Given the description of an element on the screen output the (x, y) to click on. 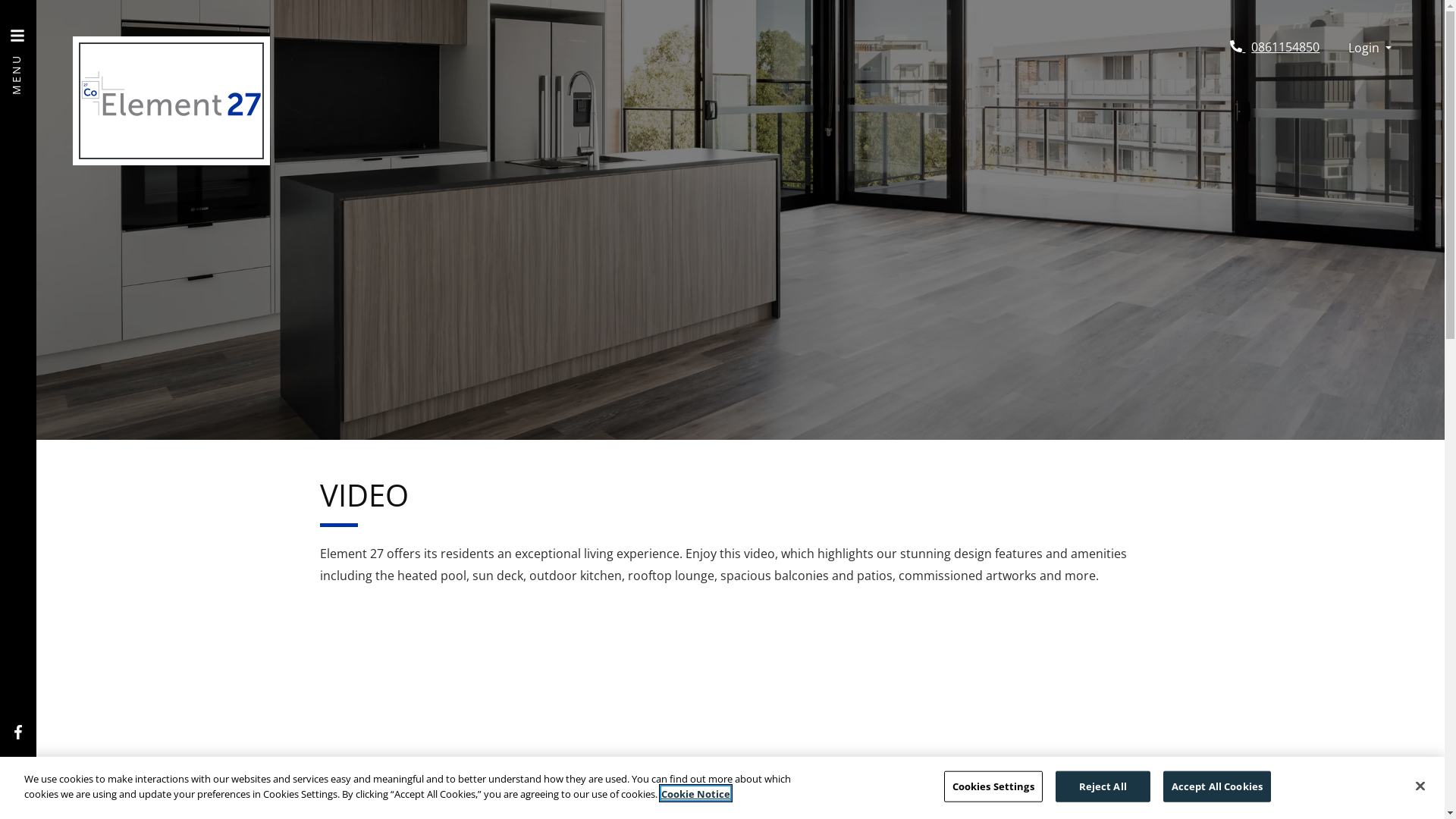
Accept All Cookies Element type: text (1216, 787)
Cookie Notice Element type: text (695, 793)
Reject All Element type: text (1102, 787)
Phone Number
0861154850 Element type: text (1274, 47)
Login Element type: text (1369, 47)
Cookies Settings Element type: text (993, 787)
